Given the description of an element on the screen output the (x, y) to click on. 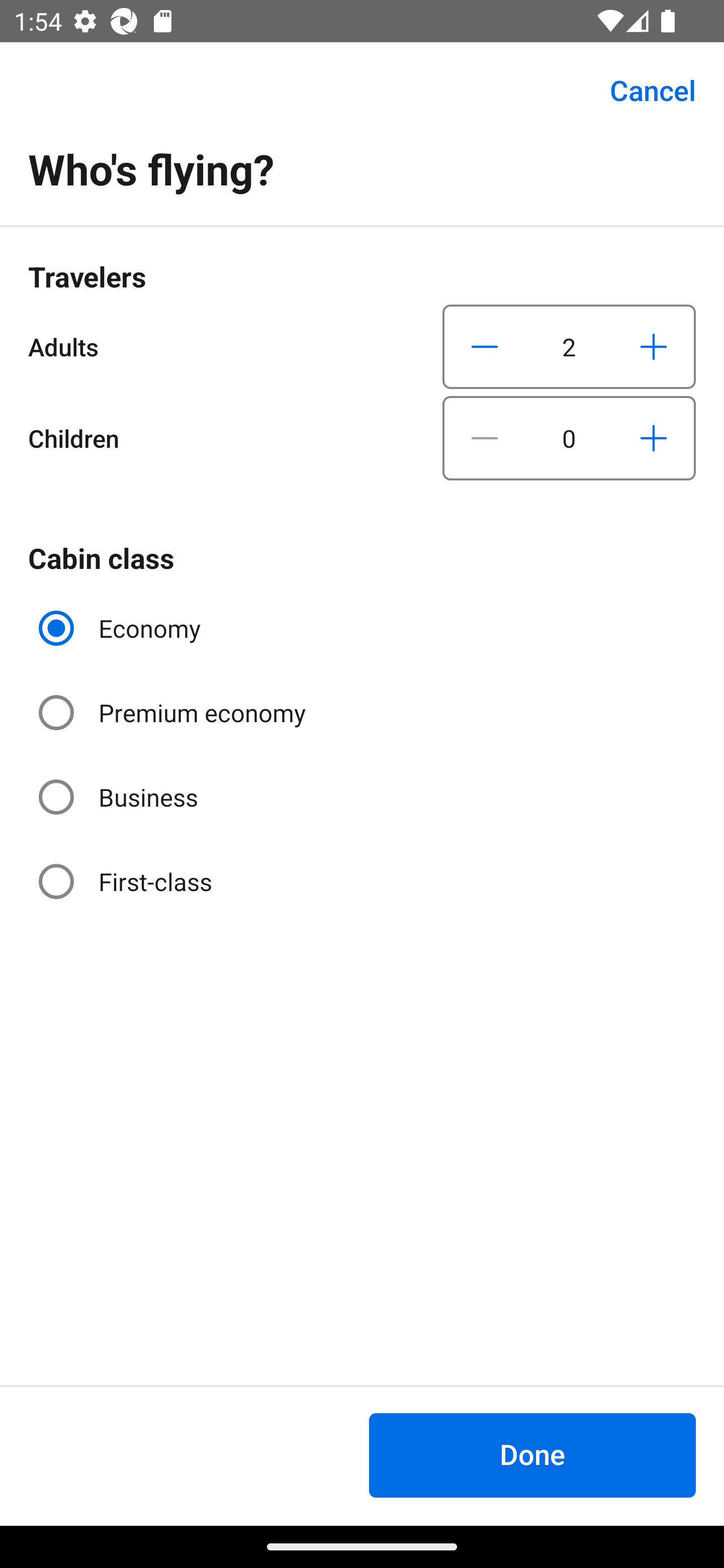
Cancel (641, 90)
Decrease (484, 346)
Increase (653, 346)
Decrease (484, 437)
Increase (653, 437)
Economy (121, 628)
Premium economy (174, 712)
Business (120, 796)
First-class (126, 880)
Done (532, 1454)
